Given the description of an element on the screen output the (x, y) to click on. 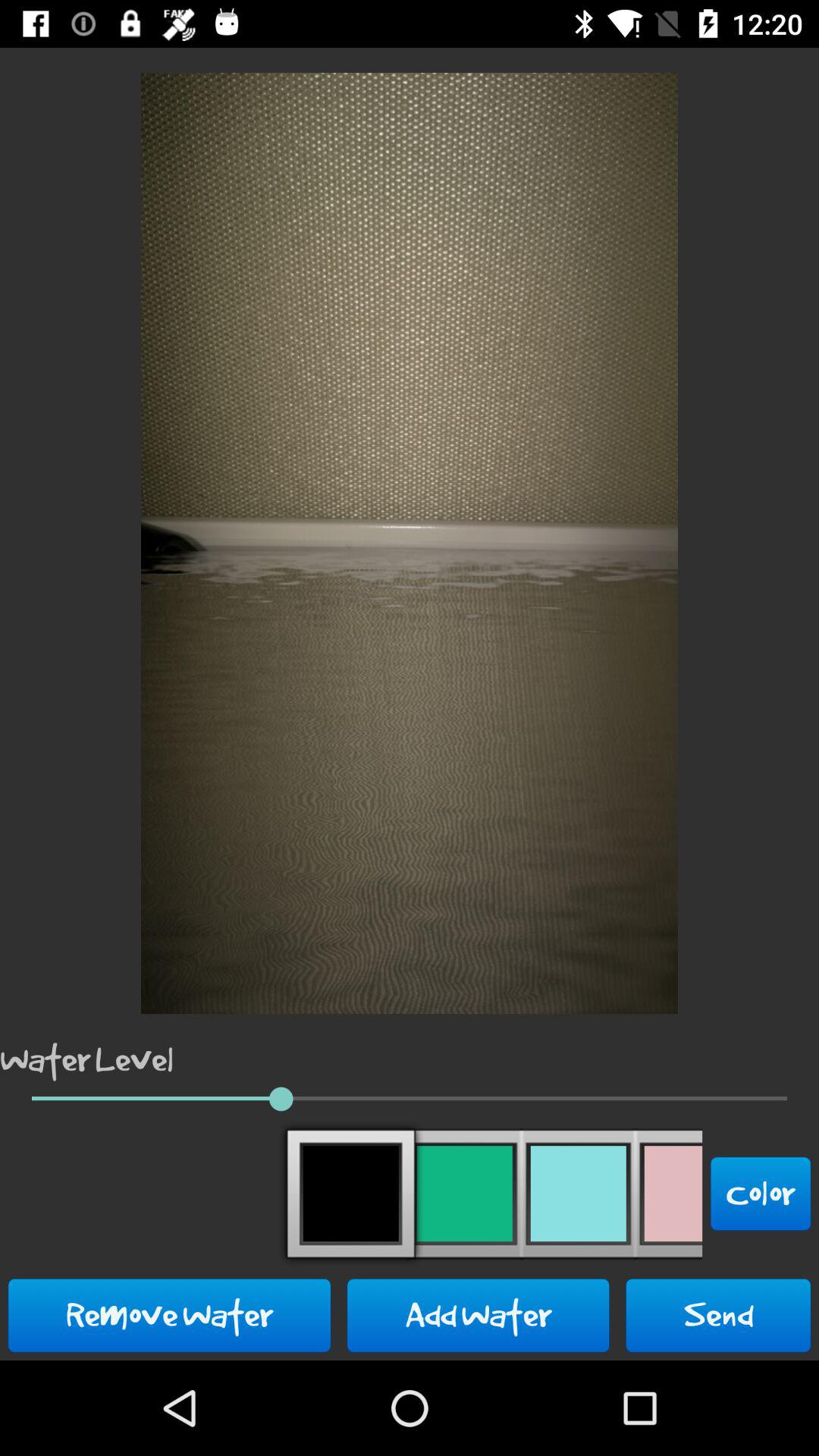
open the button to the left of the send button (477, 1315)
